Given the description of an element on the screen output the (x, y) to click on. 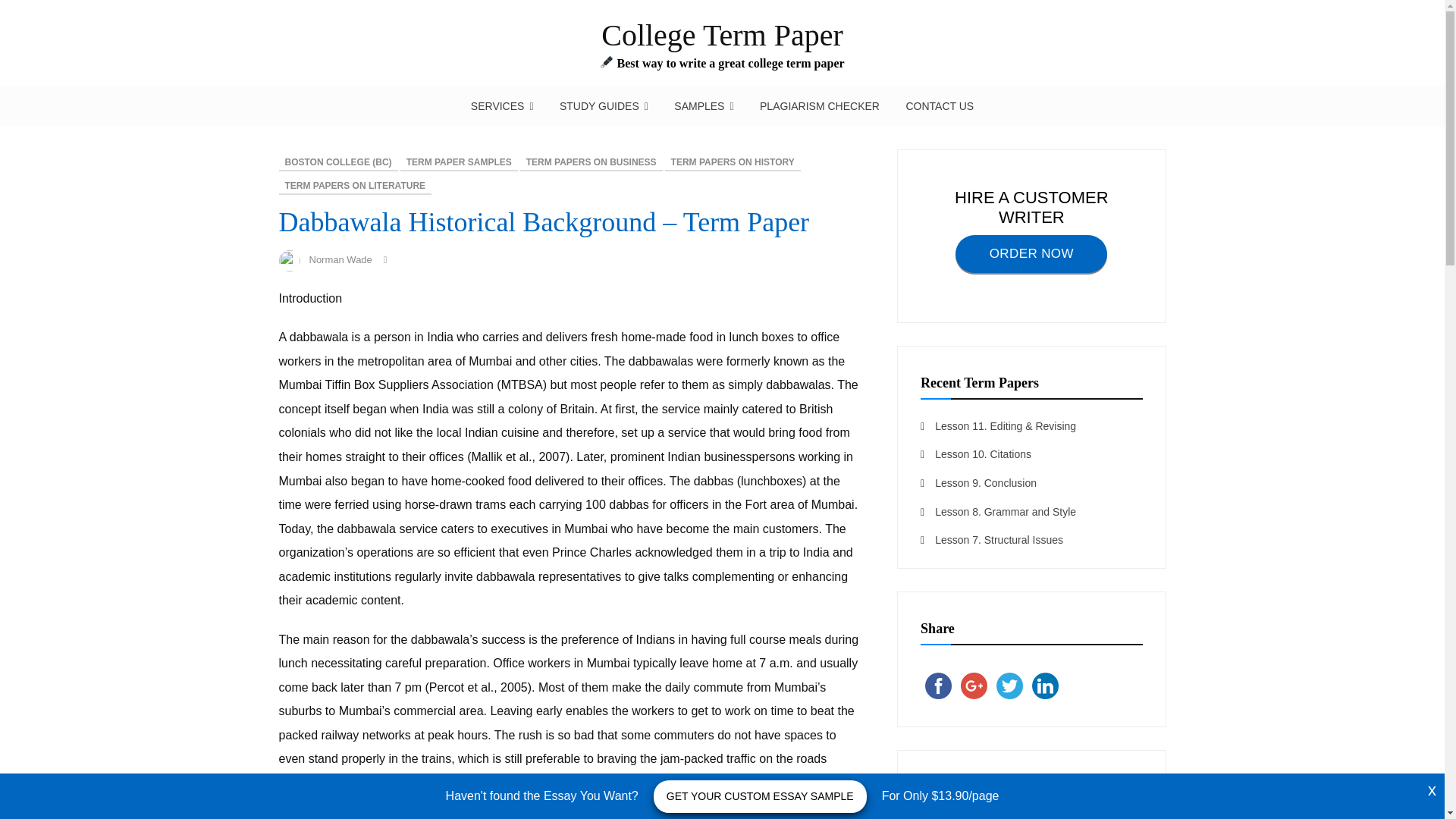
STUDY GUIDES (603, 106)
Facebook (938, 685)
SERVICES (502, 106)
SAMPLES (703, 106)
